Given the description of an element on the screen output the (x, y) to click on. 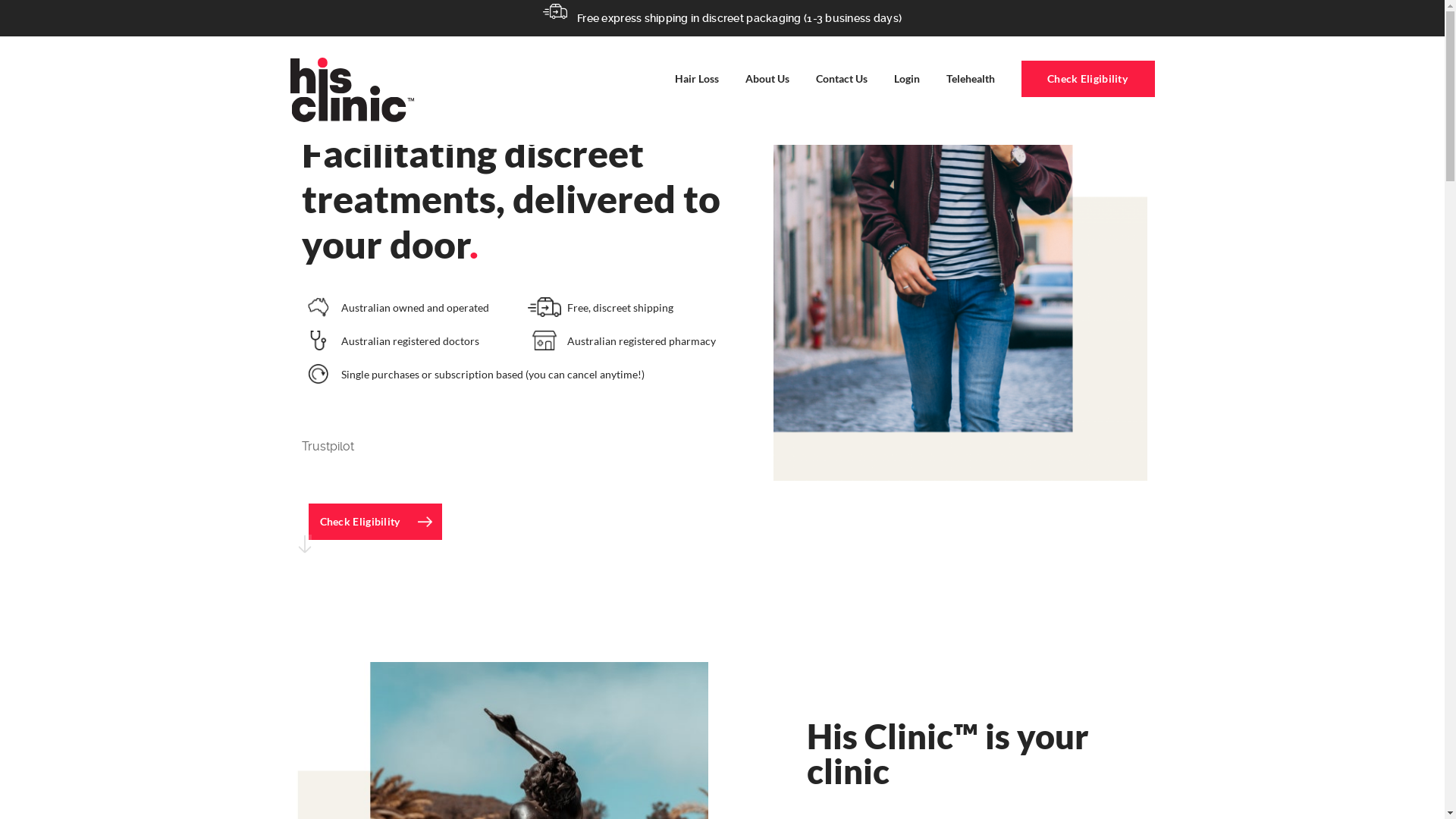
Telehealth Element type: text (970, 78)
Trustpilot Element type: text (327, 446)
Check Eligibility Element type: text (1087, 78)
Contact Us Element type: text (841, 78)
Login Element type: text (906, 78)
Check Eligibility Element type: text (374, 521)
About Us Element type: text (766, 78)
Hair Loss Element type: text (696, 78)
